Given the description of an element on the screen output the (x, y) to click on. 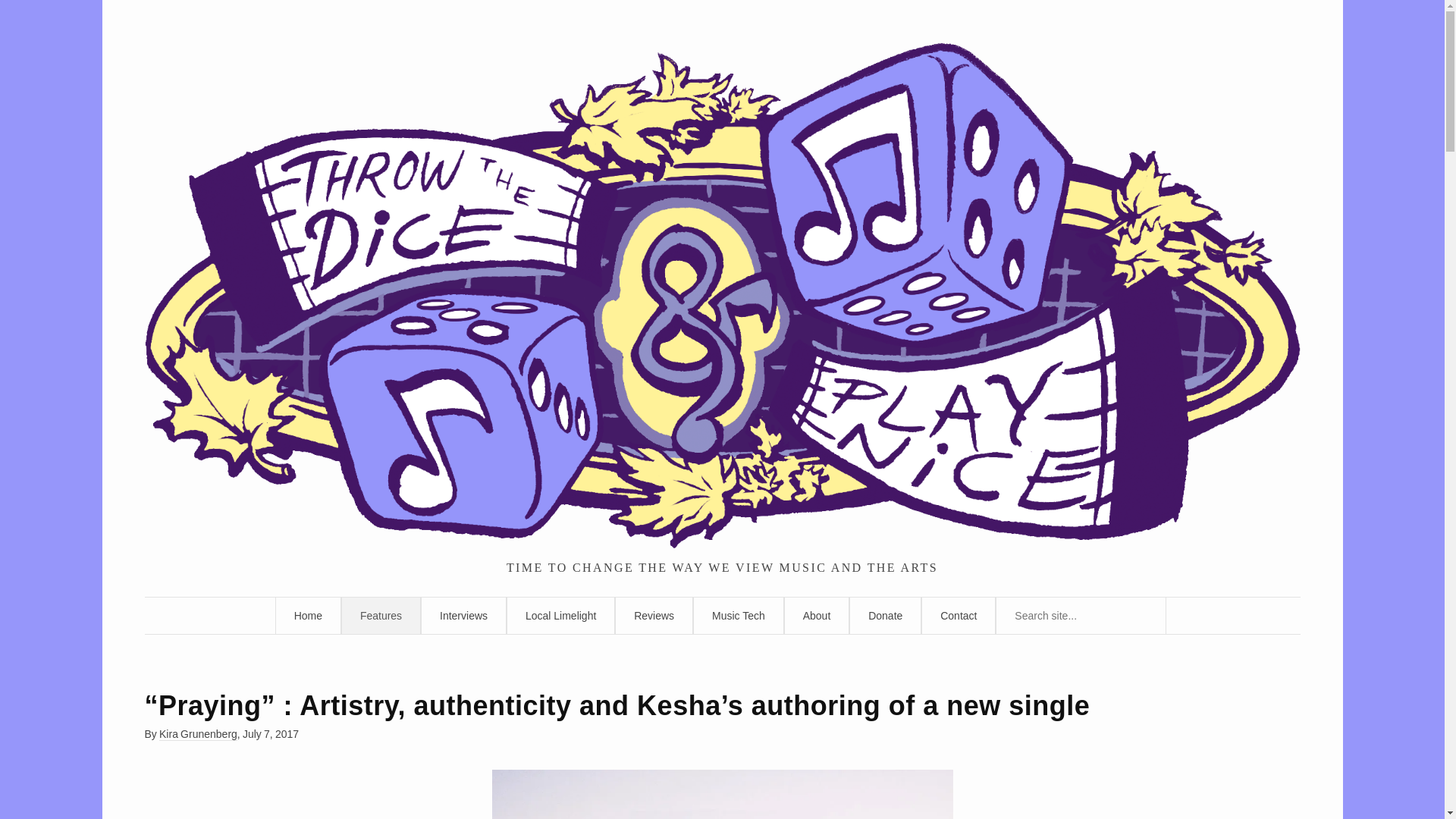
Music Tech (738, 615)
Donate (884, 615)
Interviews (463, 615)
Posts by Kira Grunenberg (197, 734)
Reviews (653, 615)
Local Limelight (560, 615)
Features (380, 615)
Home (307, 615)
Contact (958, 615)
About (817, 615)
